Given the description of an element on the screen output the (x, y) to click on. 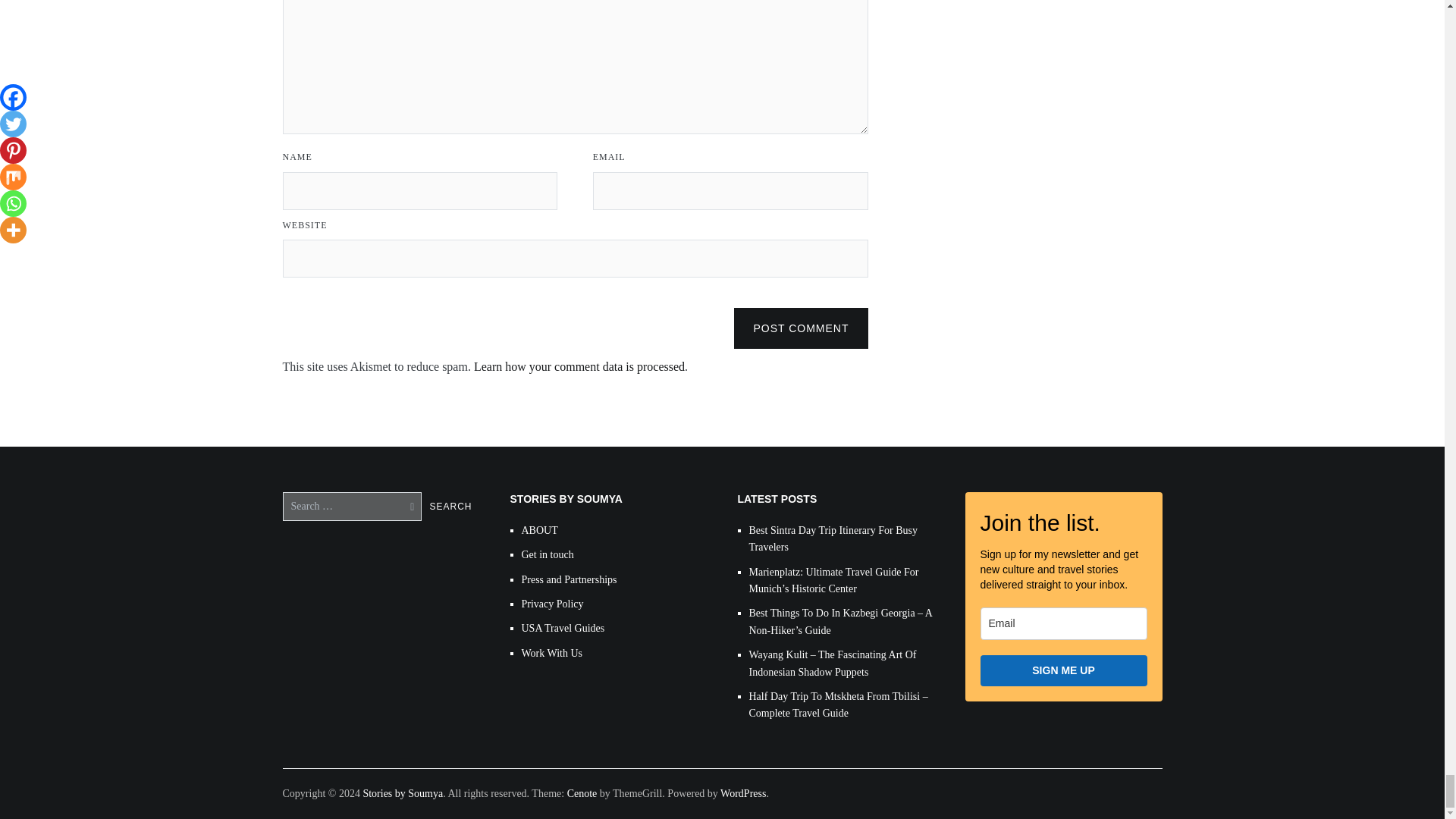
Search (450, 506)
Search (450, 506)
